Given the description of an element on the screen output the (x, y) to click on. 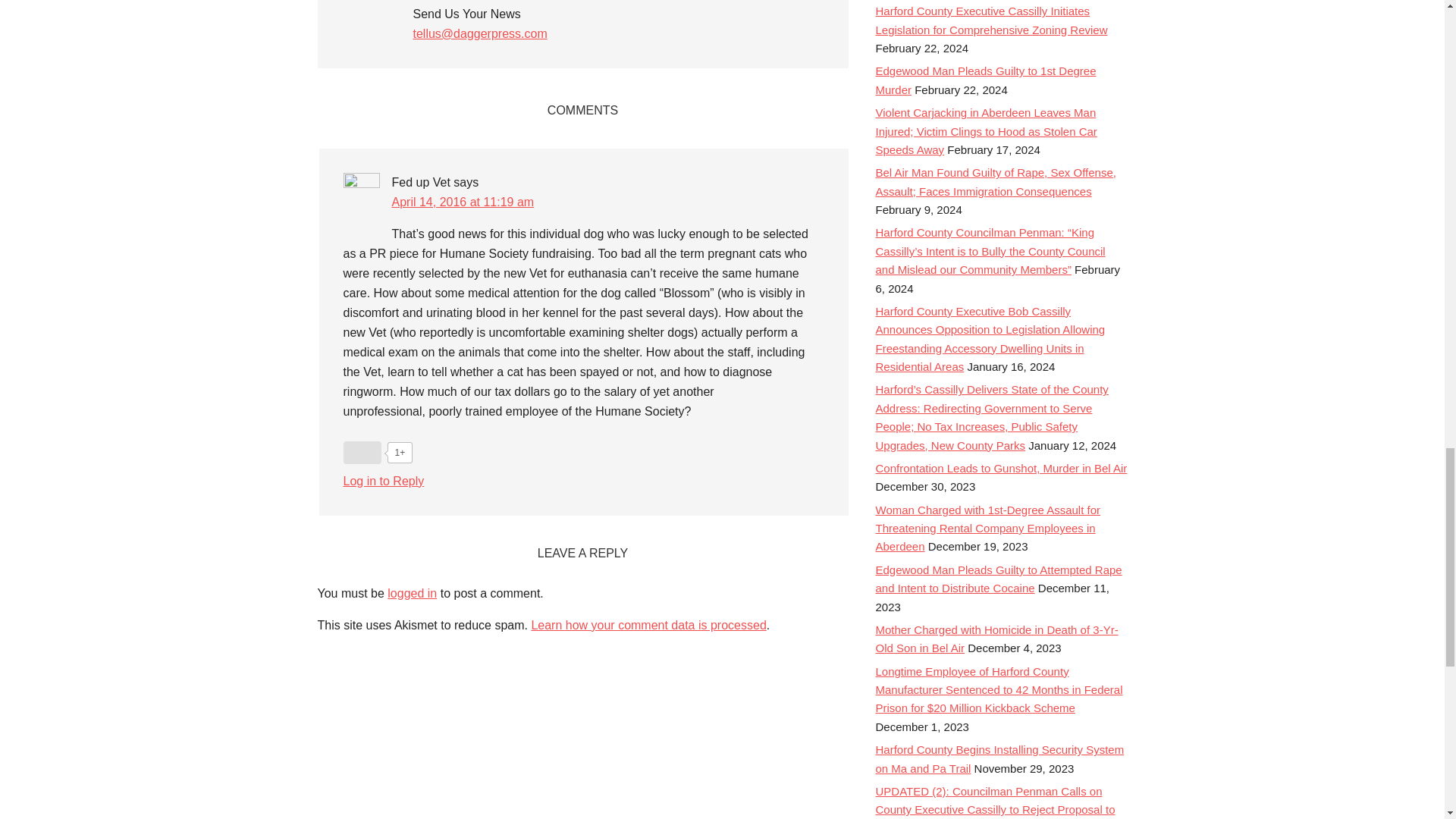
Learn how your comment data is processed (648, 625)
April 14, 2016 at 11:19 am (462, 201)
logged in (411, 593)
Log in to Reply (382, 481)
